Given the description of an element on the screen output the (x, y) to click on. 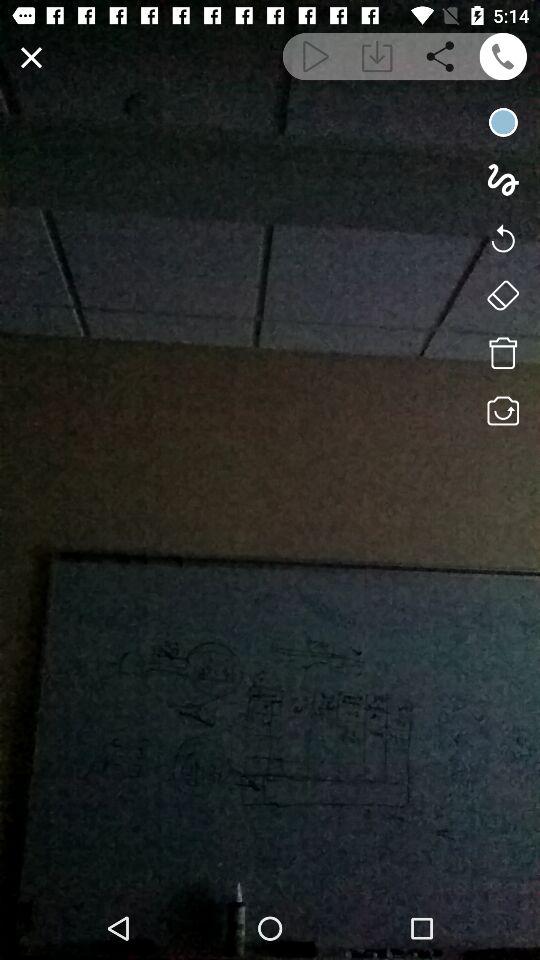
portrait option (502, 295)
